Given the description of an element on the screen output the (x, y) to click on. 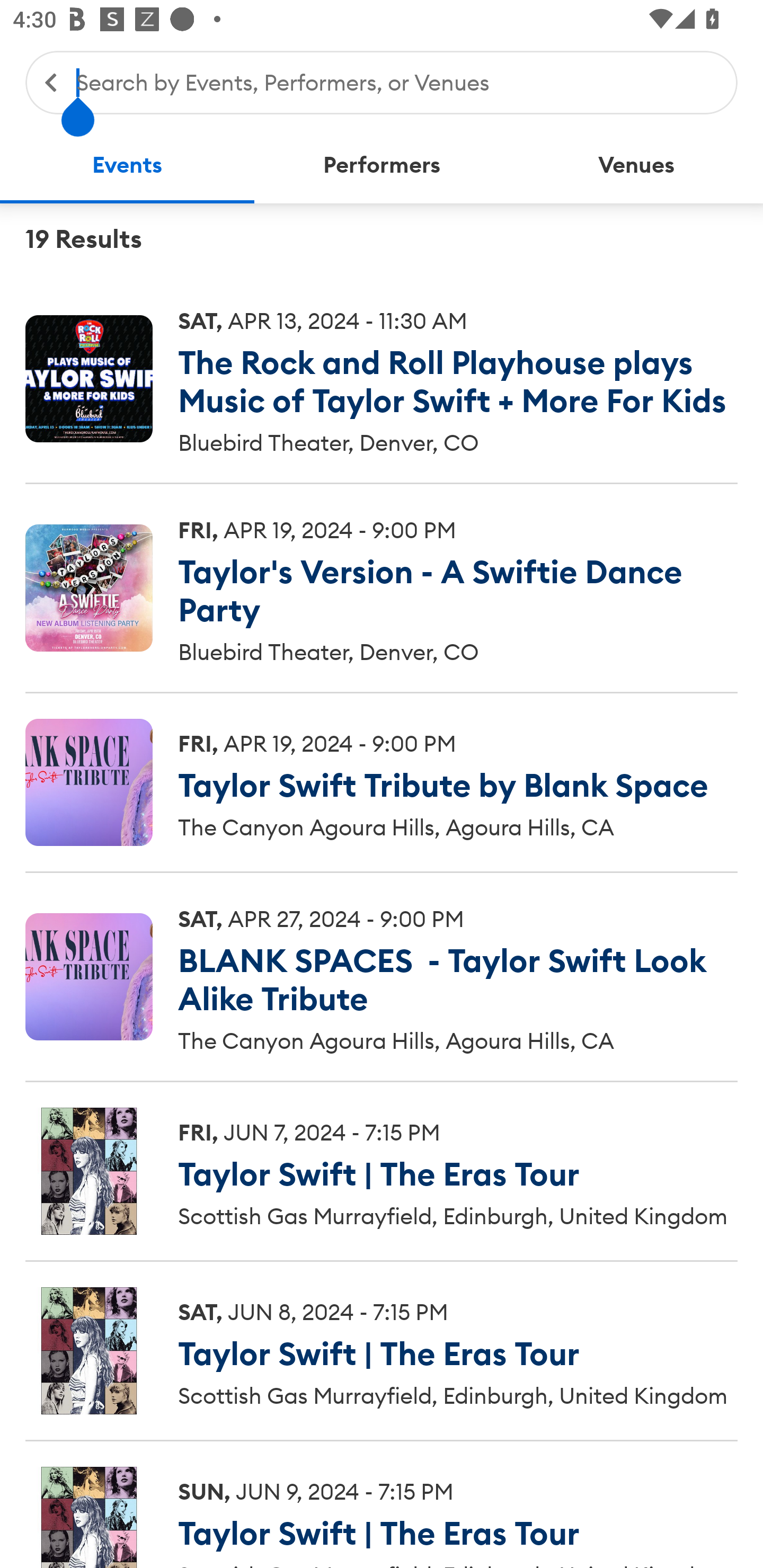
Performers (381, 165)
Venues (635, 165)
